Given the description of an element on the screen output the (x, y) to click on. 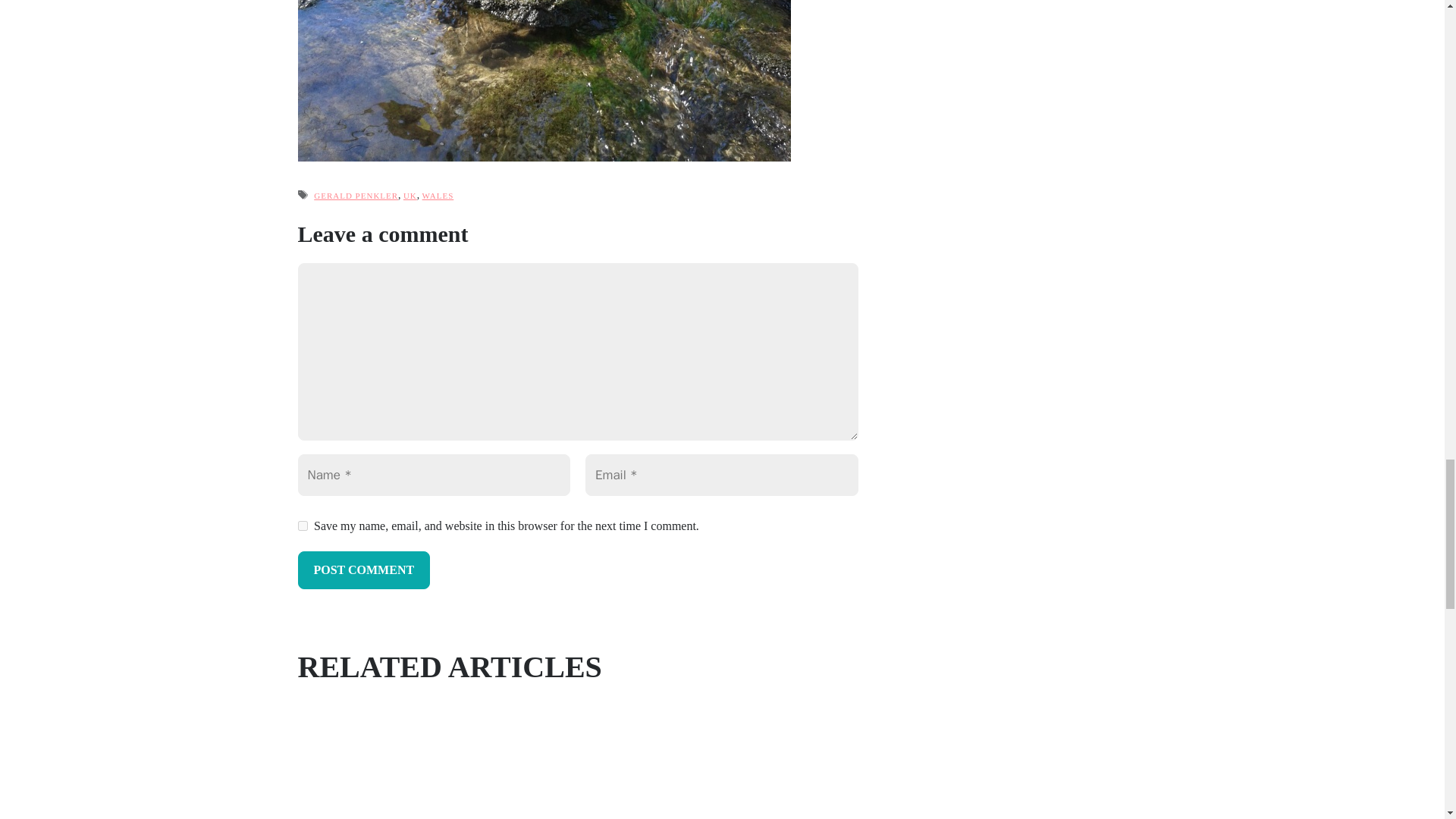
yes (302, 525)
Post Comment (363, 569)
